Given the description of an element on the screen output the (x, y) to click on. 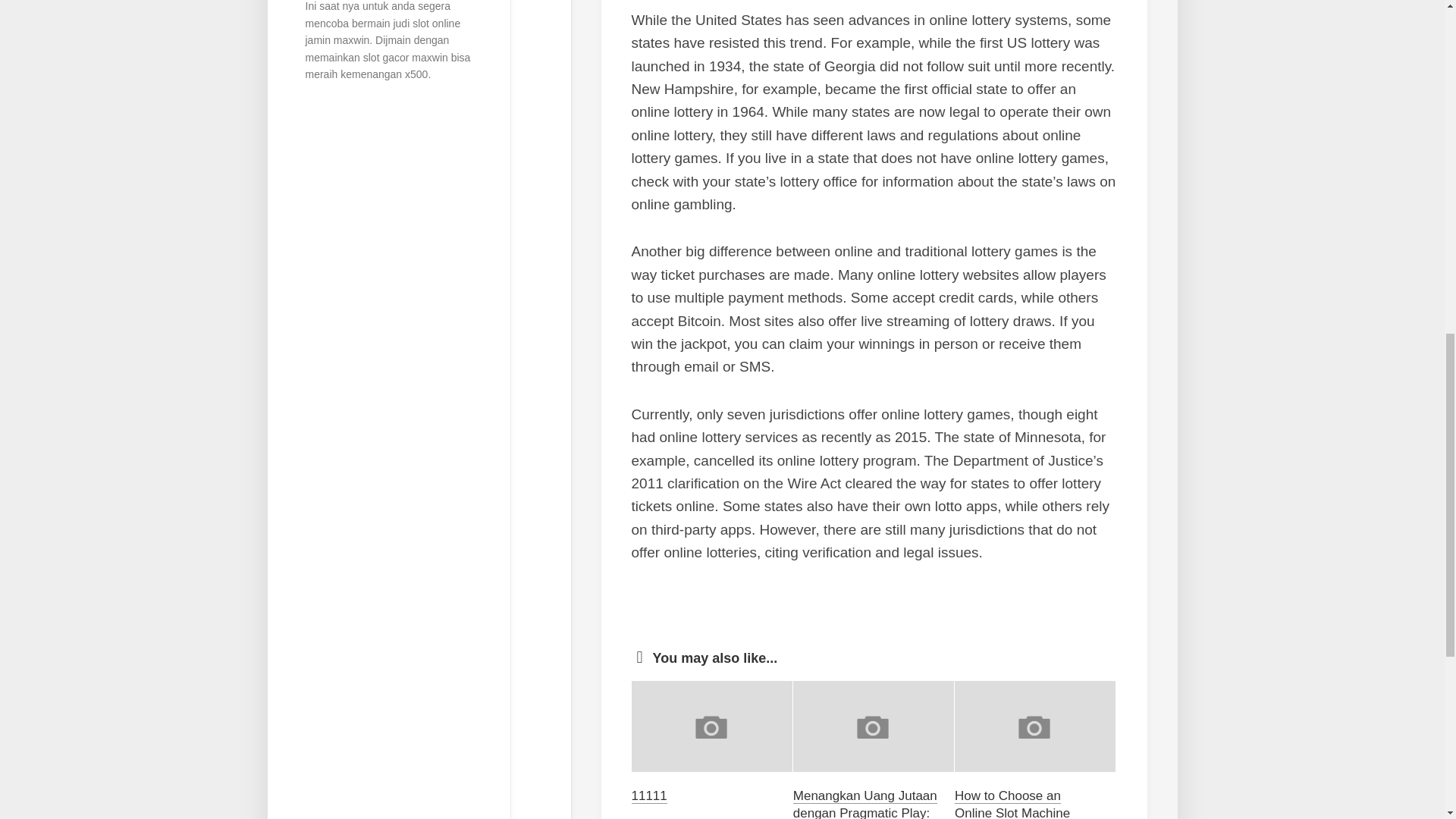
How to Choose an Online Slot Machine (1012, 803)
11111 (648, 795)
judi slot online (426, 23)
